Given the description of an element on the screen output the (x, y) to click on. 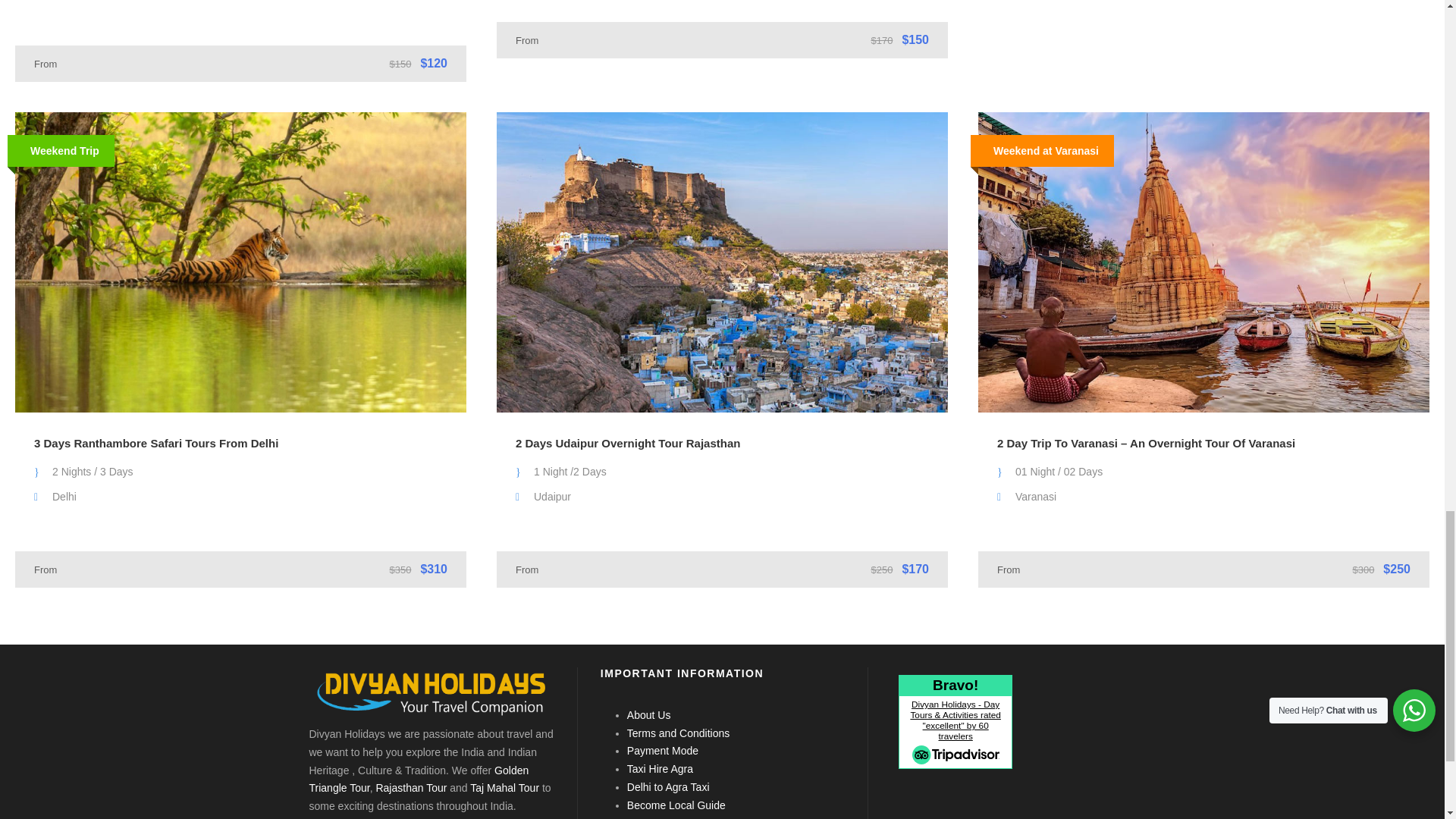
Travel to India (431, 693)
